Given the description of an element on the screen output the (x, y) to click on. 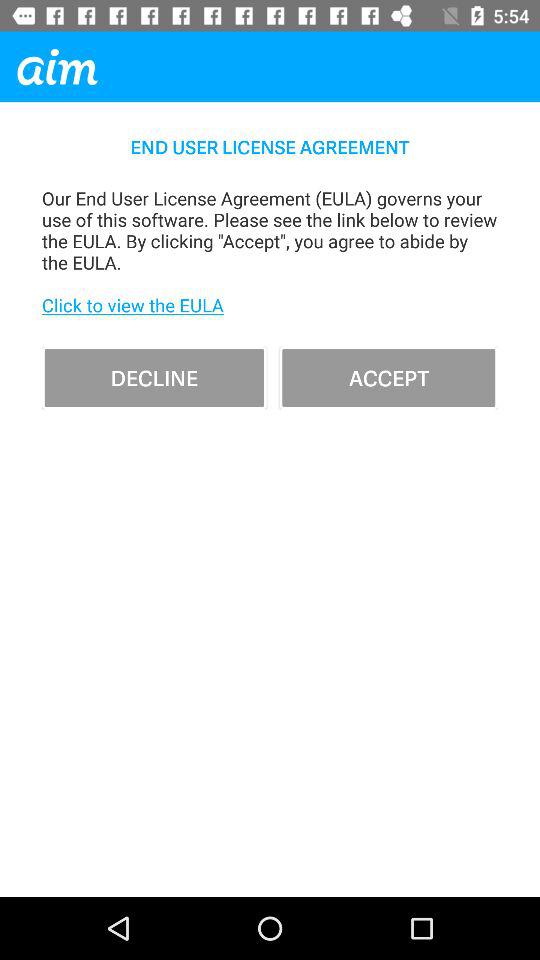
turn on decline (154, 377)
